Given the description of an element on the screen output the (x, y) to click on. 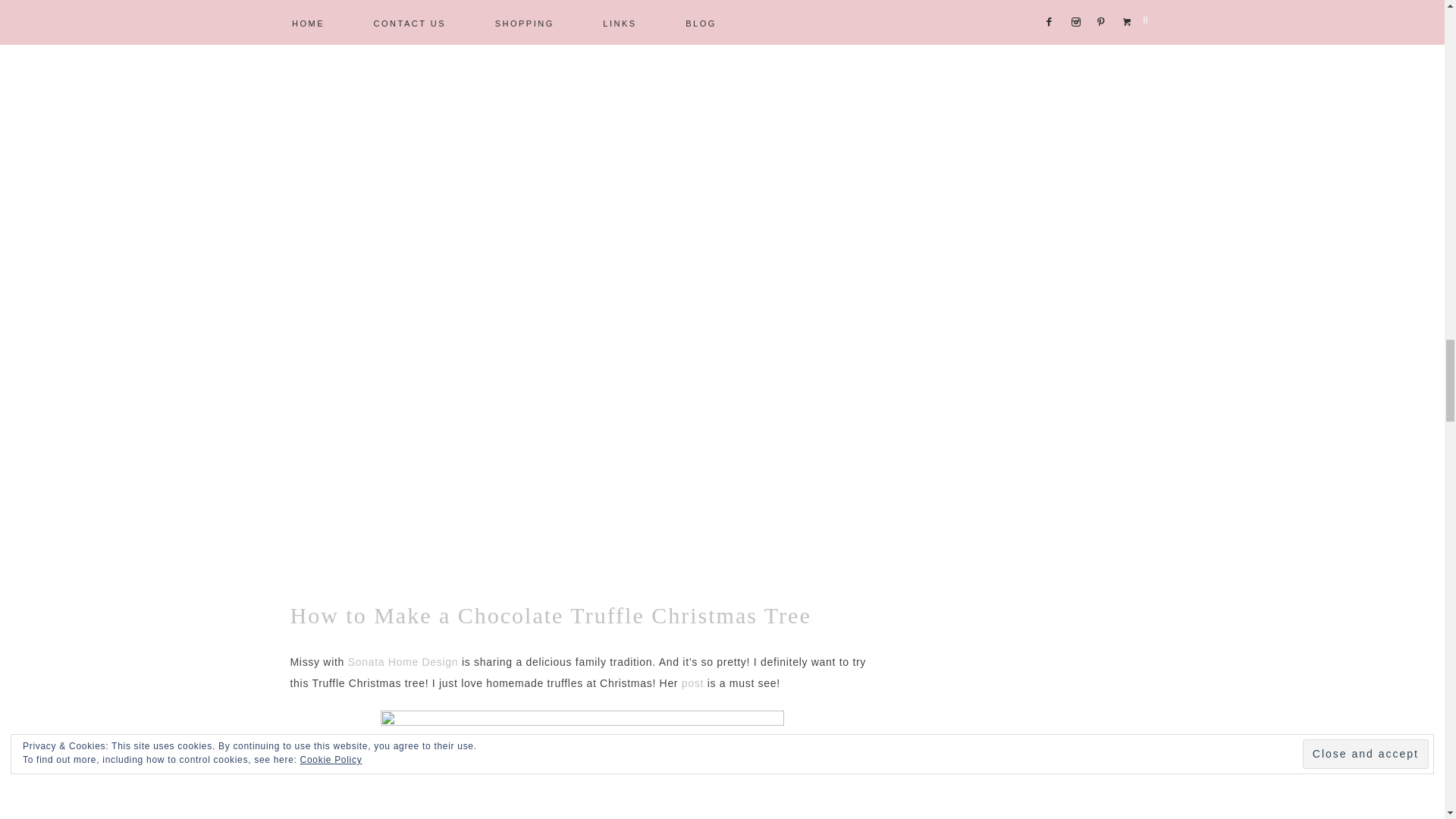
How to Make a Chocolate Truffle Christmas Tree (549, 615)
post (694, 683)
Sonata Home Design (400, 662)
